Given the description of an element on the screen output the (x, y) to click on. 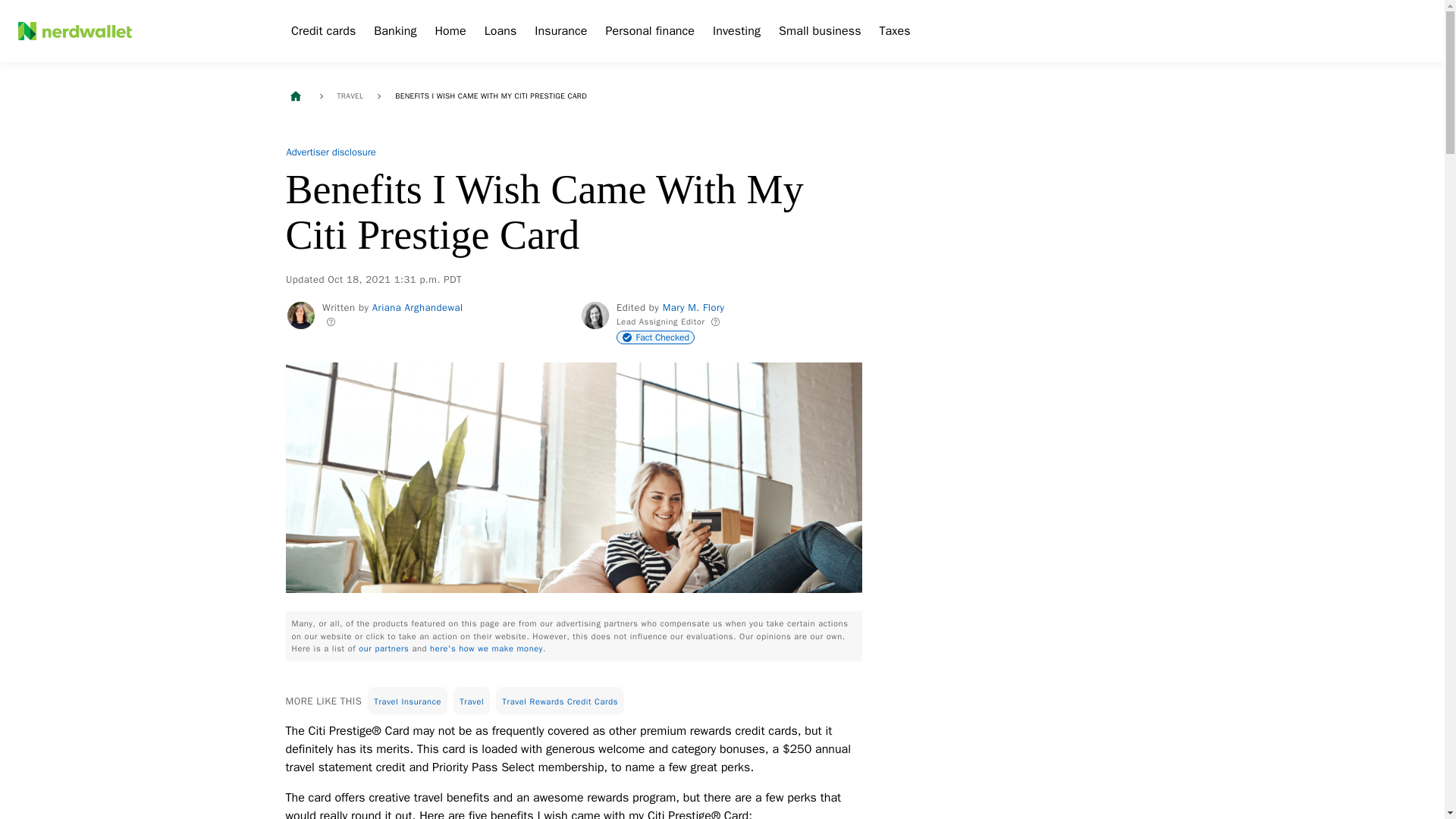
Advertiser Disclosure (330, 152)
Benefits I Wish Came With My Citi Prestige Card (490, 95)
Back to NerdWallet homepage (294, 96)
